Given the description of an element on the screen output the (x, y) to click on. 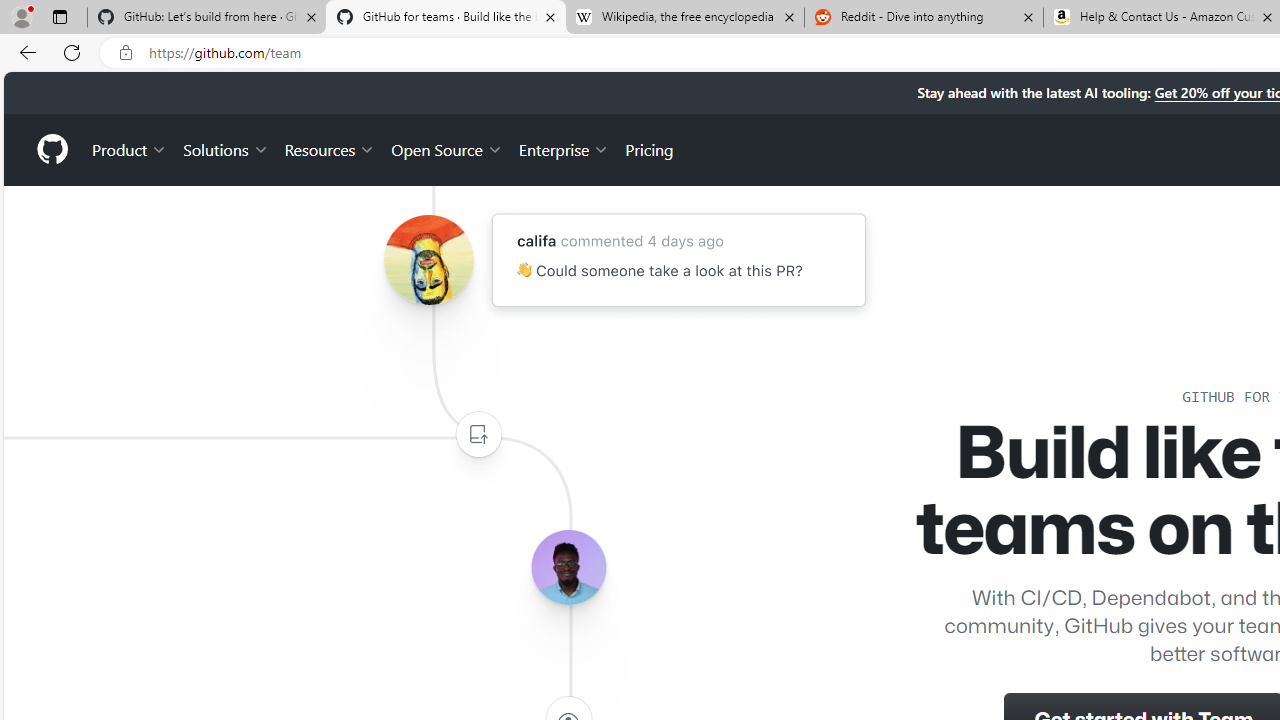
Solutions (225, 148)
Product (130, 148)
Open Source (446, 148)
Homepage (51, 149)
Open Source (446, 148)
Resources (330, 148)
Avatar of the user califa (428, 260)
Enterprise (563, 148)
Wikipedia, the free encyclopedia (684, 17)
